Given the description of an element on the screen output the (x, y) to click on. 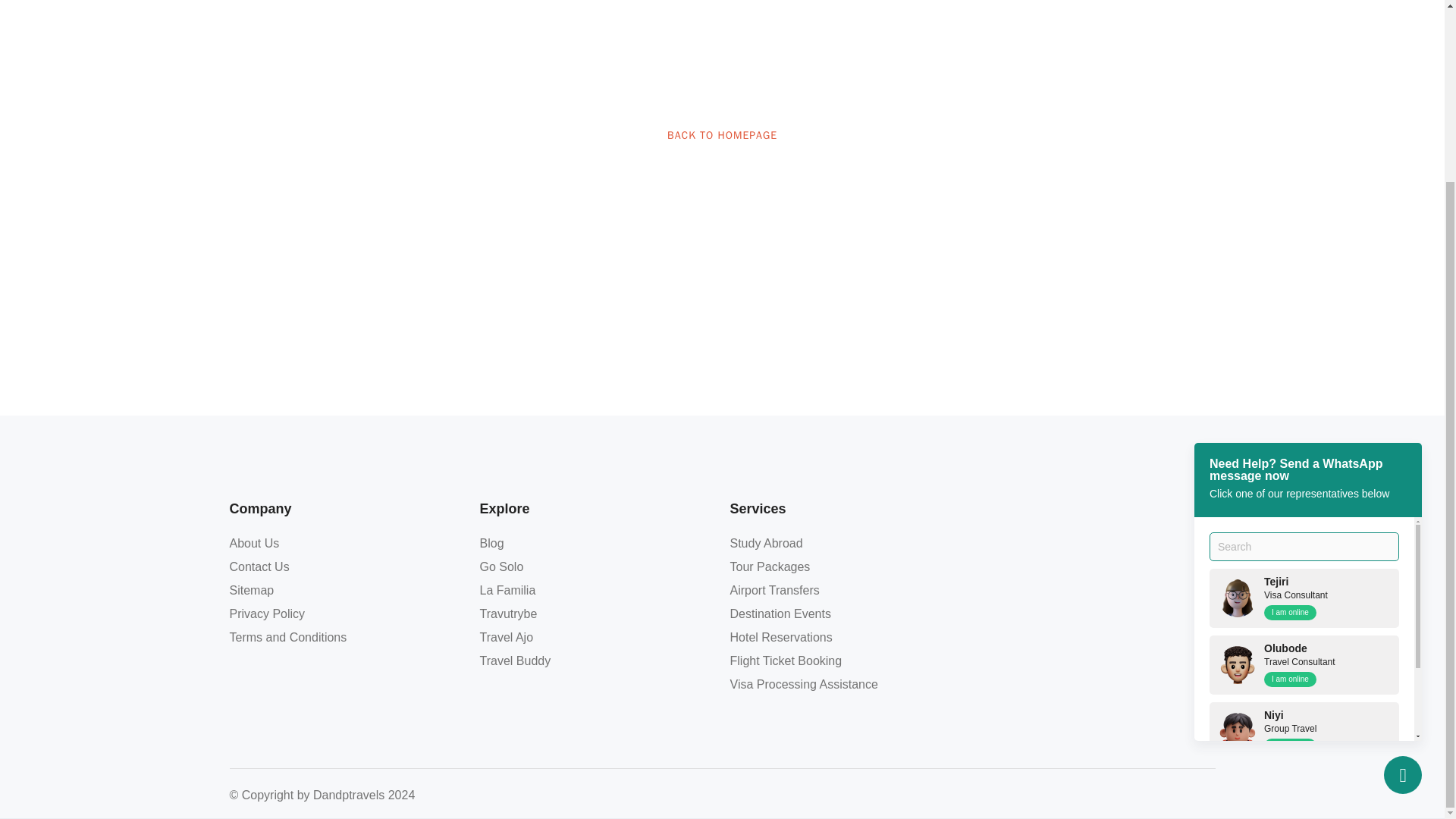
6 Mike Adegbite Ave, Lekki Phase I, Lagos 106104, Lagos (1096, 612)
